Given the description of an element on the screen output the (x, y) to click on. 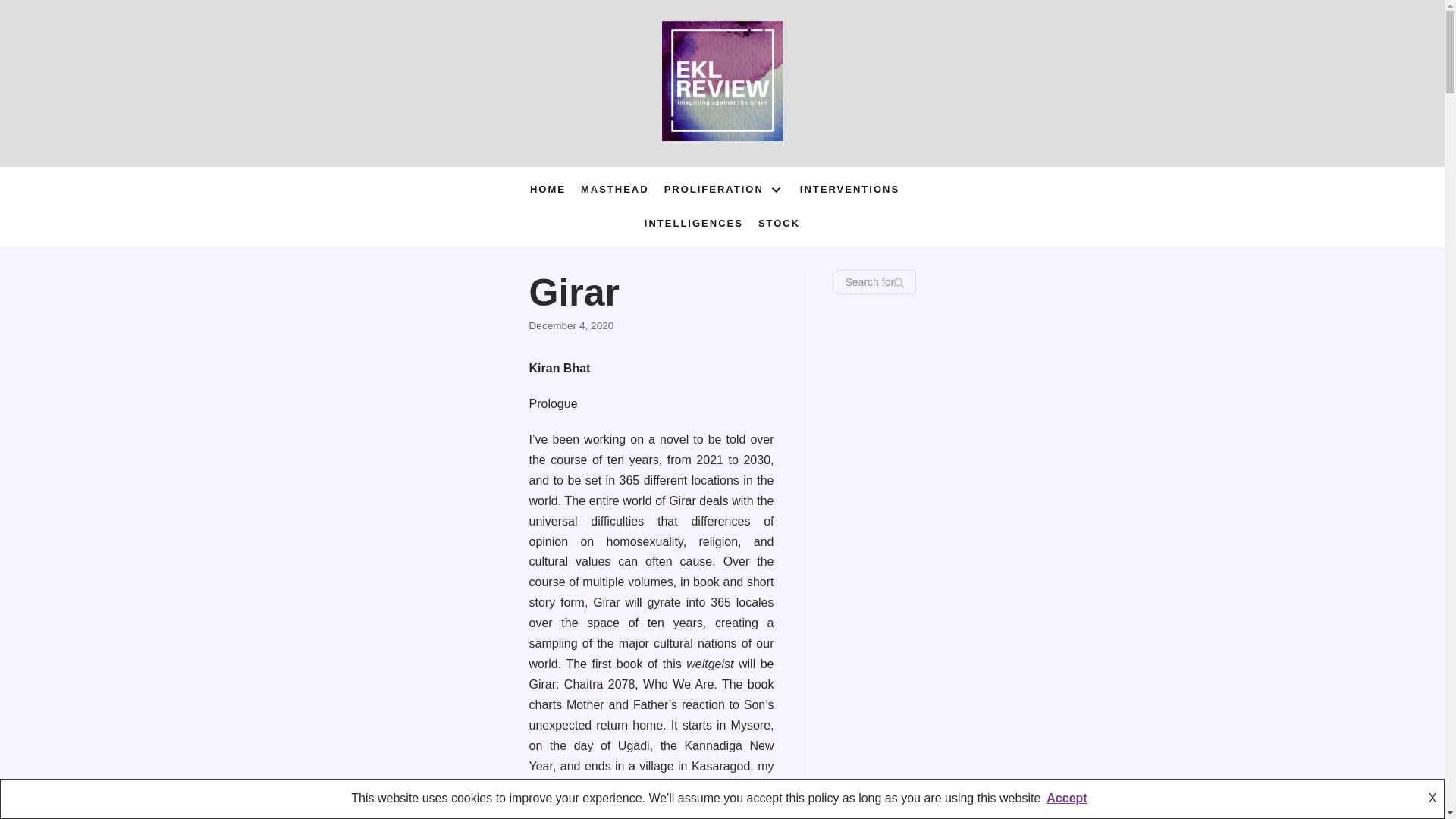
STOCK (778, 223)
EKL REVIEW (721, 83)
PROLIFERATION (723, 189)
Accept (1067, 797)
HOME (547, 189)
MASTHEAD (614, 189)
INTELLIGENCES (693, 223)
INTERVENTIONS (849, 189)
Skip to content (15, 7)
